Given the description of an element on the screen output the (x, y) to click on. 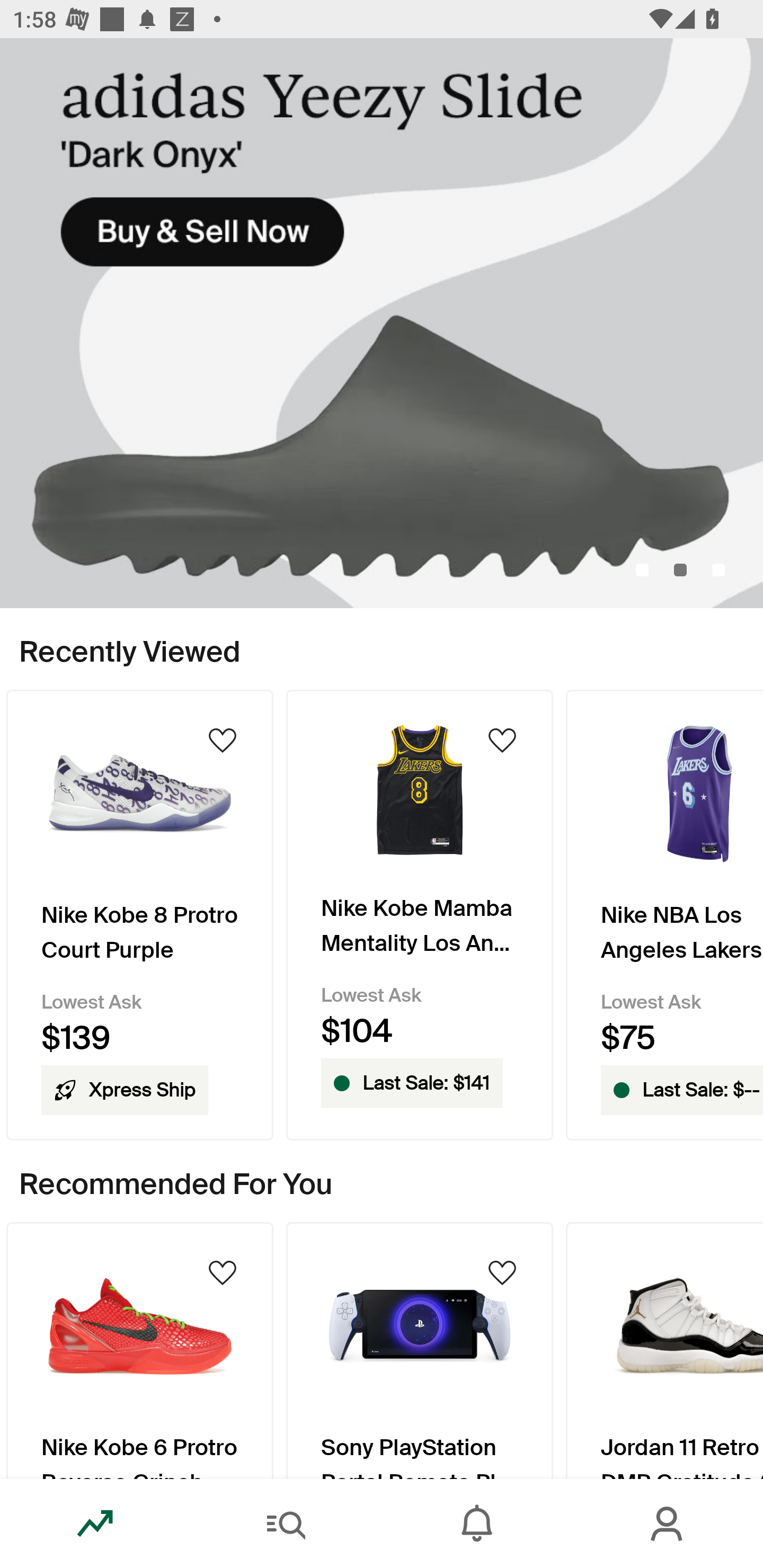
Product Image Nike Kobe 6 Protro Reverse Grinch (139, 1349)
Search (285, 1523)
Inbox (476, 1523)
Account (667, 1523)
